Given the description of an element on the screen output the (x, y) to click on. 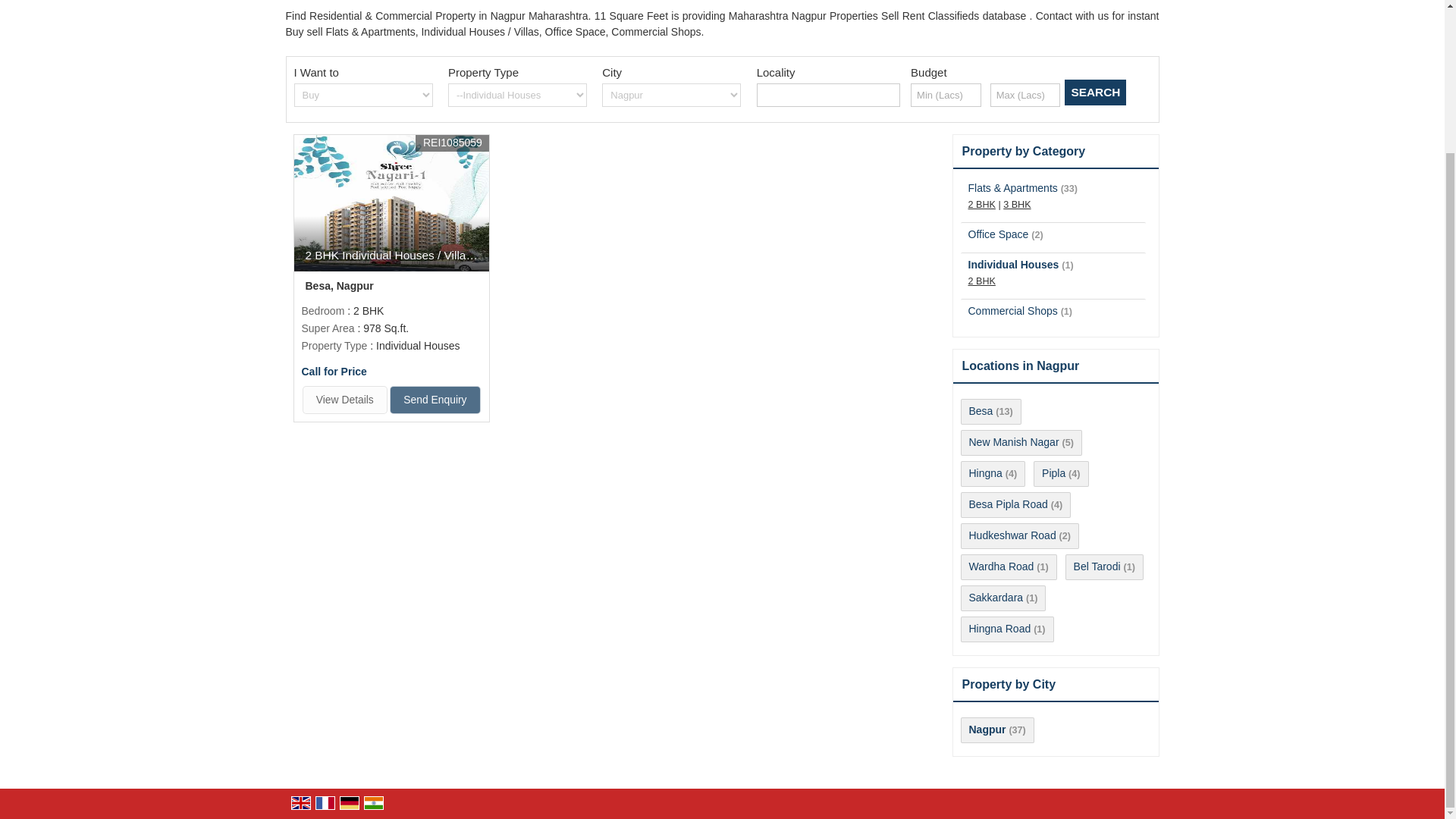
SEARCH (1094, 92)
